Given the description of an element on the screen output the (x, y) to click on. 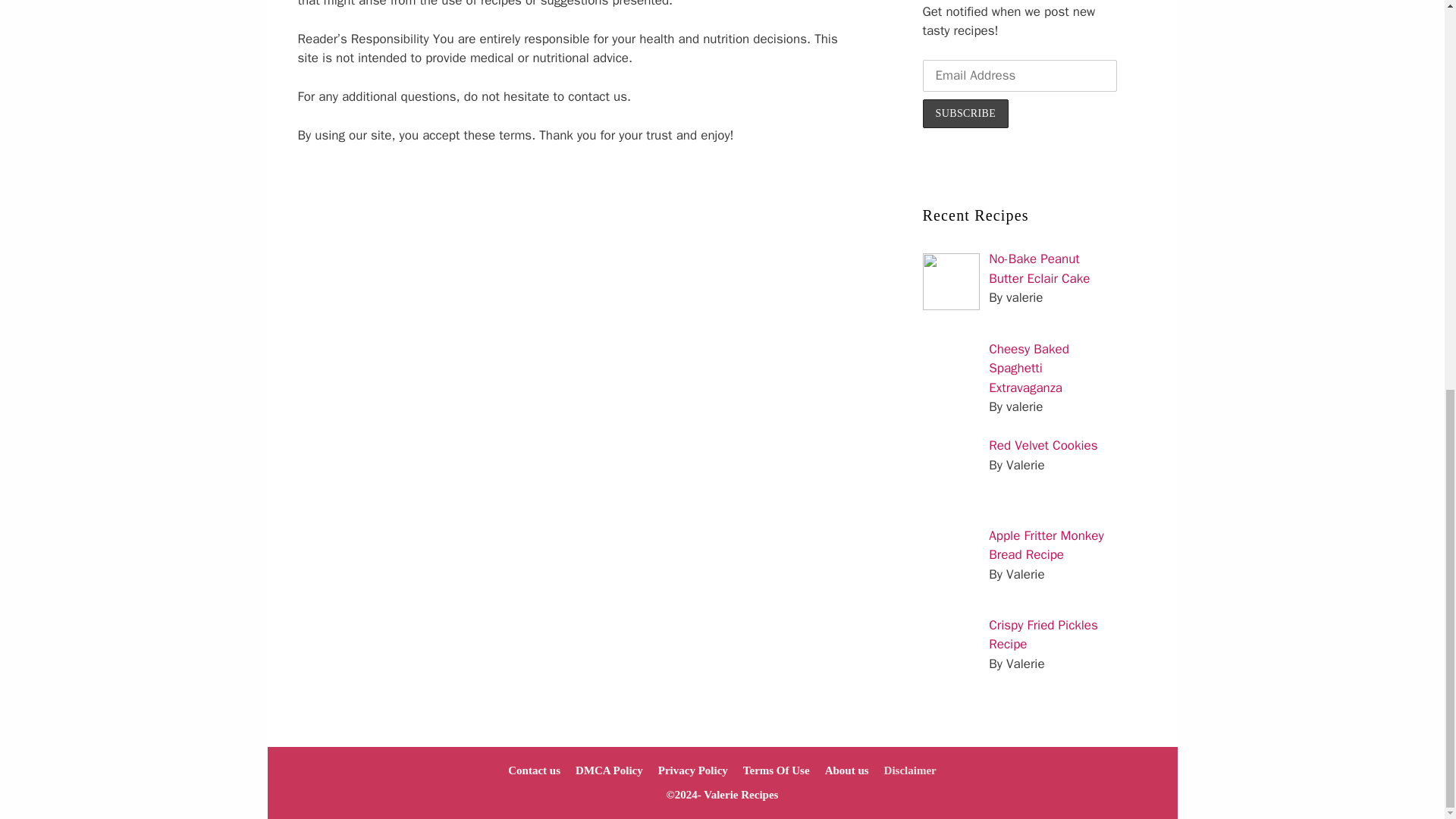
DMCA Policy (609, 770)
Contact us (534, 770)
Disclaimer (909, 770)
About us (847, 770)
Scroll back to top (1406, 797)
No-Bake Peanut Butter Eclair Cake (1038, 268)
Subscribe (965, 113)
Subscribe (965, 113)
Cheesy Baked Spaghetti Extravaganza (1028, 368)
Privacy Policy (693, 770)
Apple Fritter Monkey Bread Recipe (1045, 545)
Crispy Fried Pickles Recipe (1042, 634)
Red Velvet Cookies (1042, 445)
Terms Of Use (775, 770)
